Given the description of an element on the screen output the (x, y) to click on. 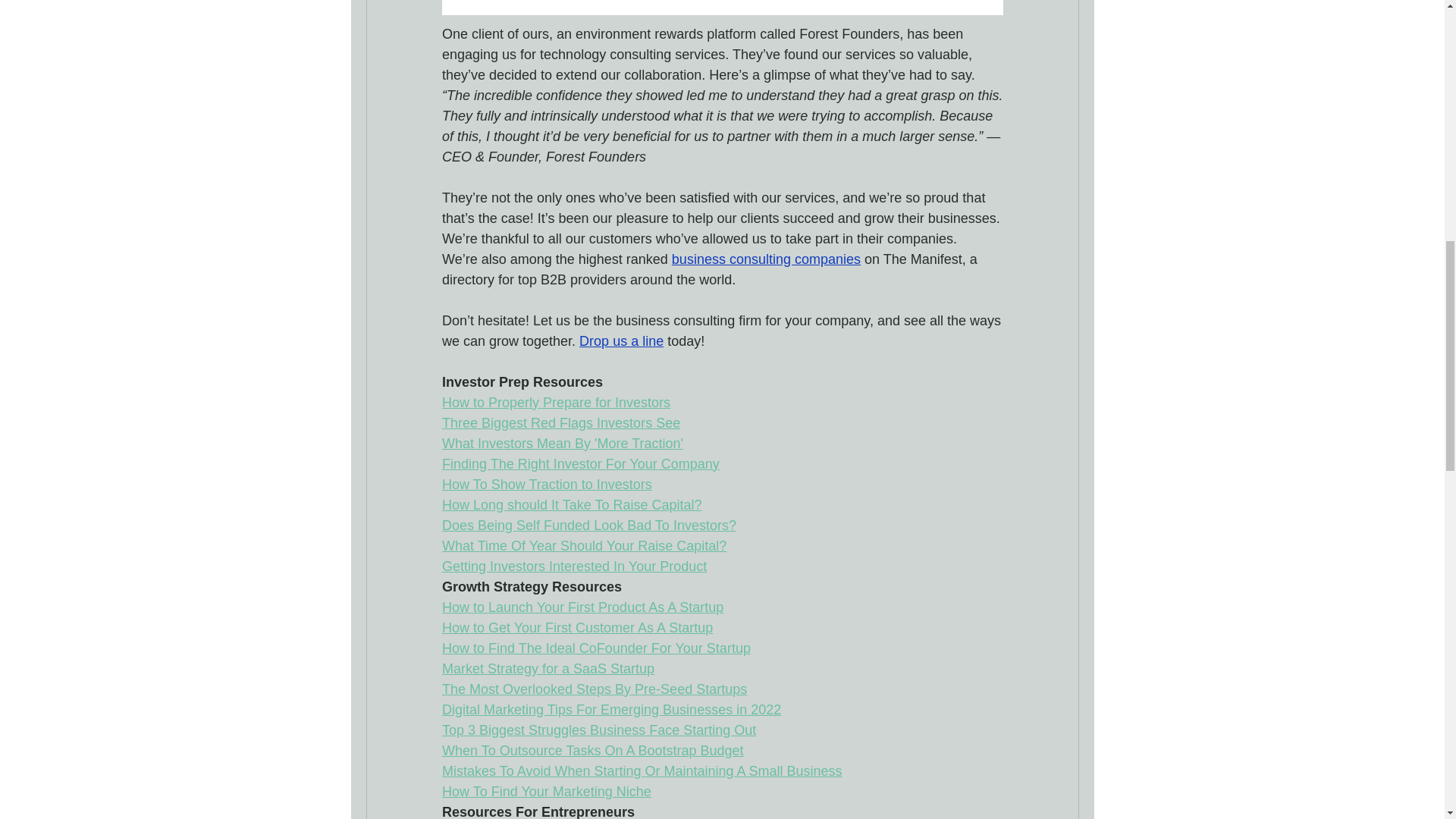
Three Biggest Red Flags Investors See (560, 422)
Getting Investors Interested In Your Product (573, 566)
How To Show Traction to Investors (545, 484)
business consulting companies (765, 258)
Does Being Self Funded Look Bad To Investors? (588, 525)
What Time Of Year Should Your Raise Capital? (583, 545)
What Investors Mean By 'More Traction' (561, 443)
Drop us a line (621, 340)
How to Properly Prepare for Investors (555, 402)
How Long should It Take To Raise Capital? (571, 504)
How to Launch Your First Product As A Startup (581, 607)
Finding The Right Investor For Your Company (580, 463)
